Given the description of an element on the screen output the (x, y) to click on. 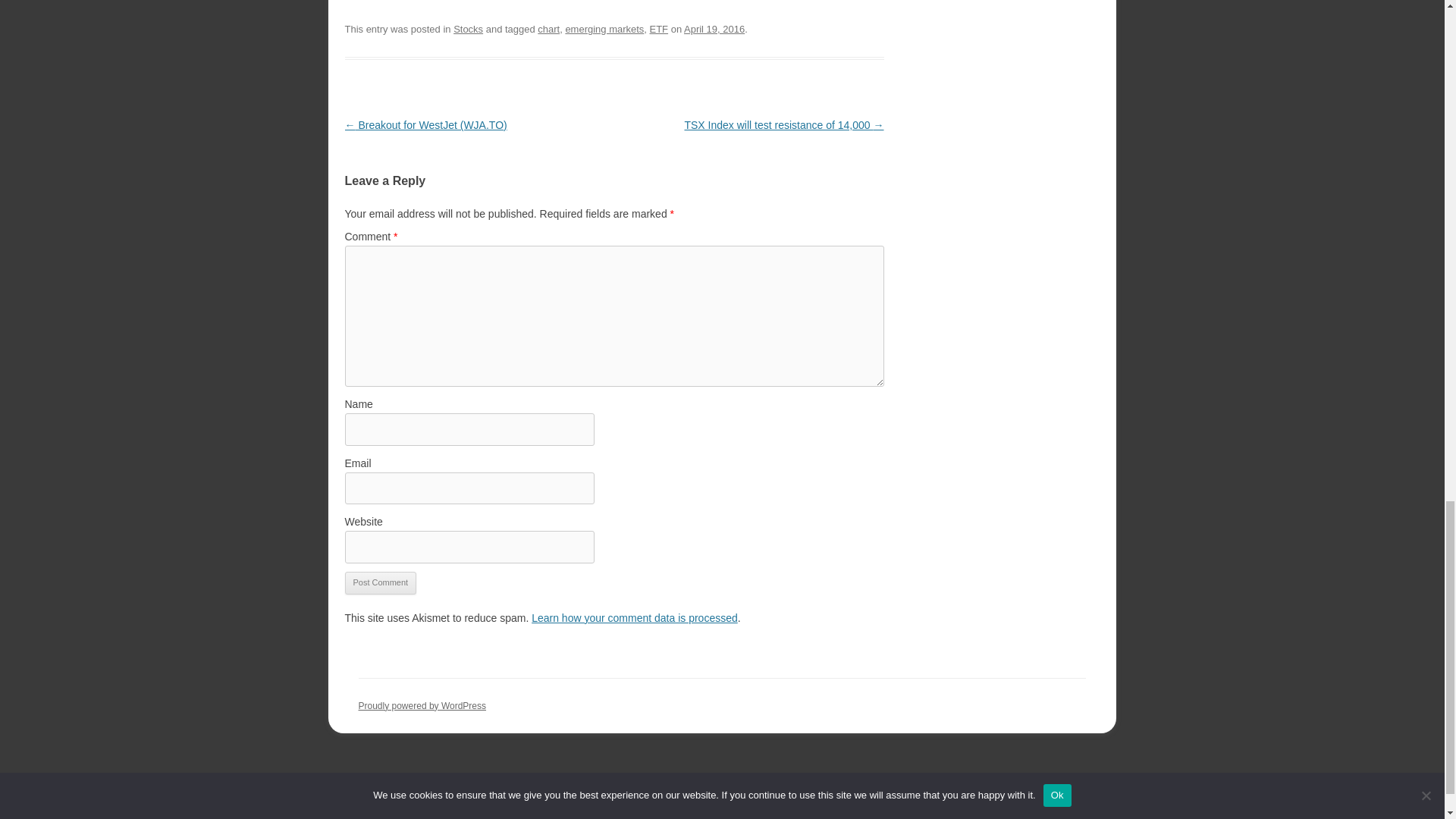
emerging markets (603, 29)
chart (548, 29)
ETF (658, 29)
8:30 am (714, 29)
Post Comment (379, 582)
Stocks (467, 29)
Learn how your comment data is processed (634, 617)
April 19, 2016 (714, 29)
Post Comment (379, 582)
